Given the description of an element on the screen output the (x, y) to click on. 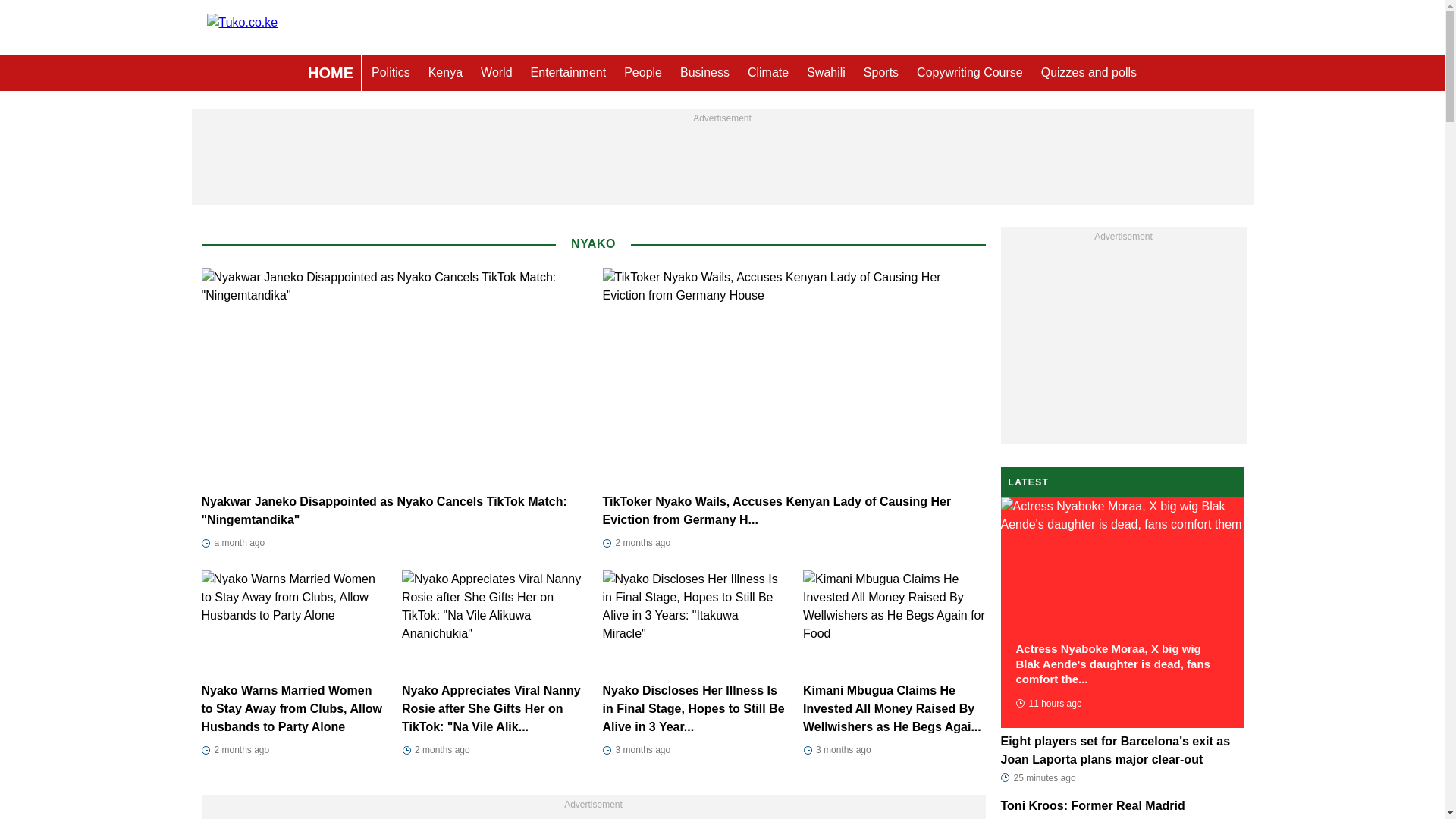
Sports (880, 72)
World (496, 72)
Swahili (825, 72)
Politics (390, 72)
Entertainment (568, 72)
Kenya (445, 72)
Climate (767, 72)
Quizzes and polls (1088, 72)
Business (704, 72)
HOME (330, 72)
Copywriting Course (969, 72)
People (642, 72)
